Given the description of an element on the screen output the (x, y) to click on. 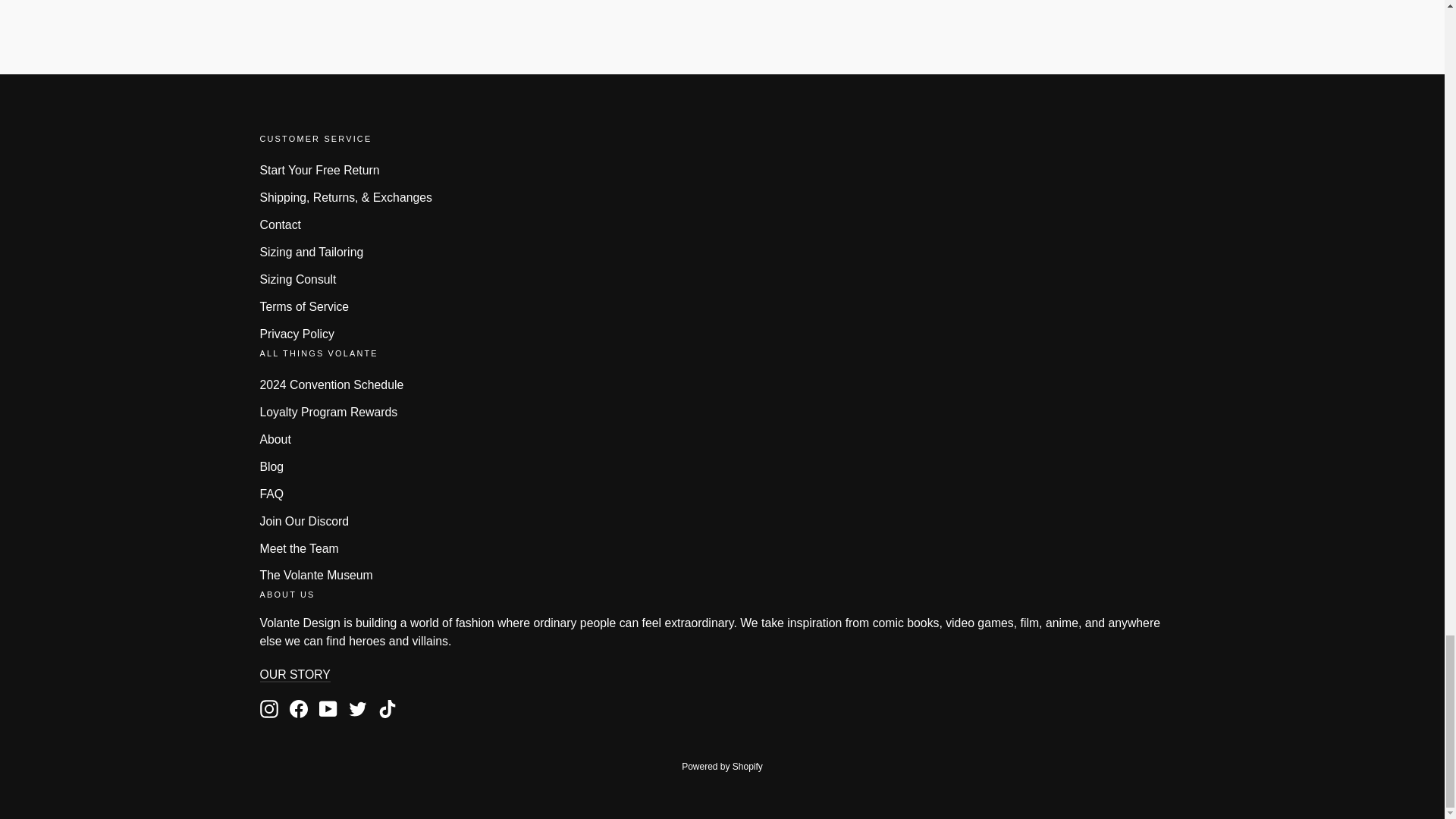
Volante Design on Instagram (268, 709)
Volante Design on Twitter (357, 709)
Volante Design on Facebook (298, 709)
Volante Design on TikTok (386, 709)
Volante Design on YouTube (327, 709)
